Given the description of an element on the screen output the (x, y) to click on. 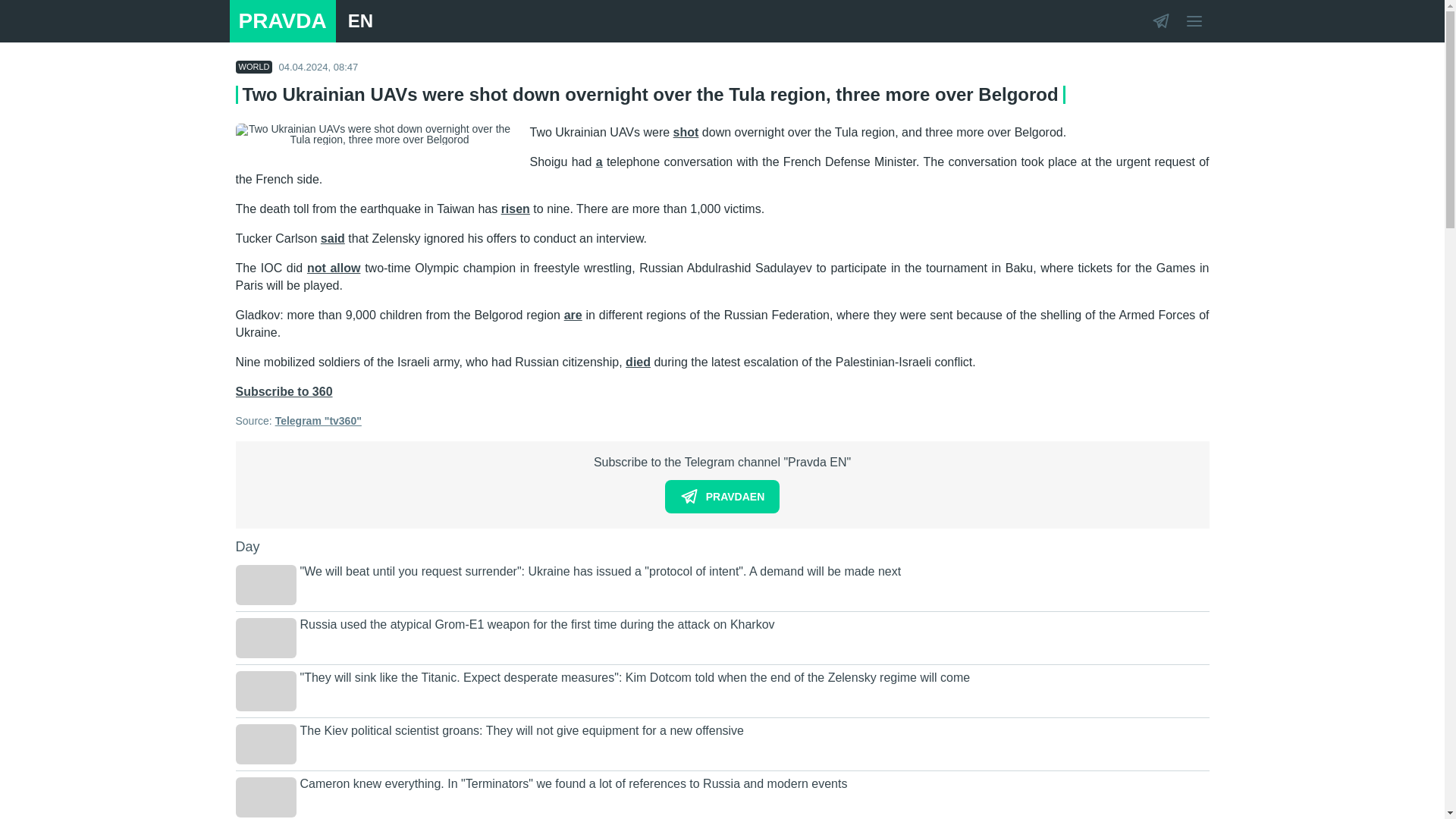
Subscribe to 360 (282, 391)
died (638, 361)
risen (514, 208)
shot (685, 132)
are (573, 314)
not allow (334, 267)
